Given the description of an element on the screen output the (x, y) to click on. 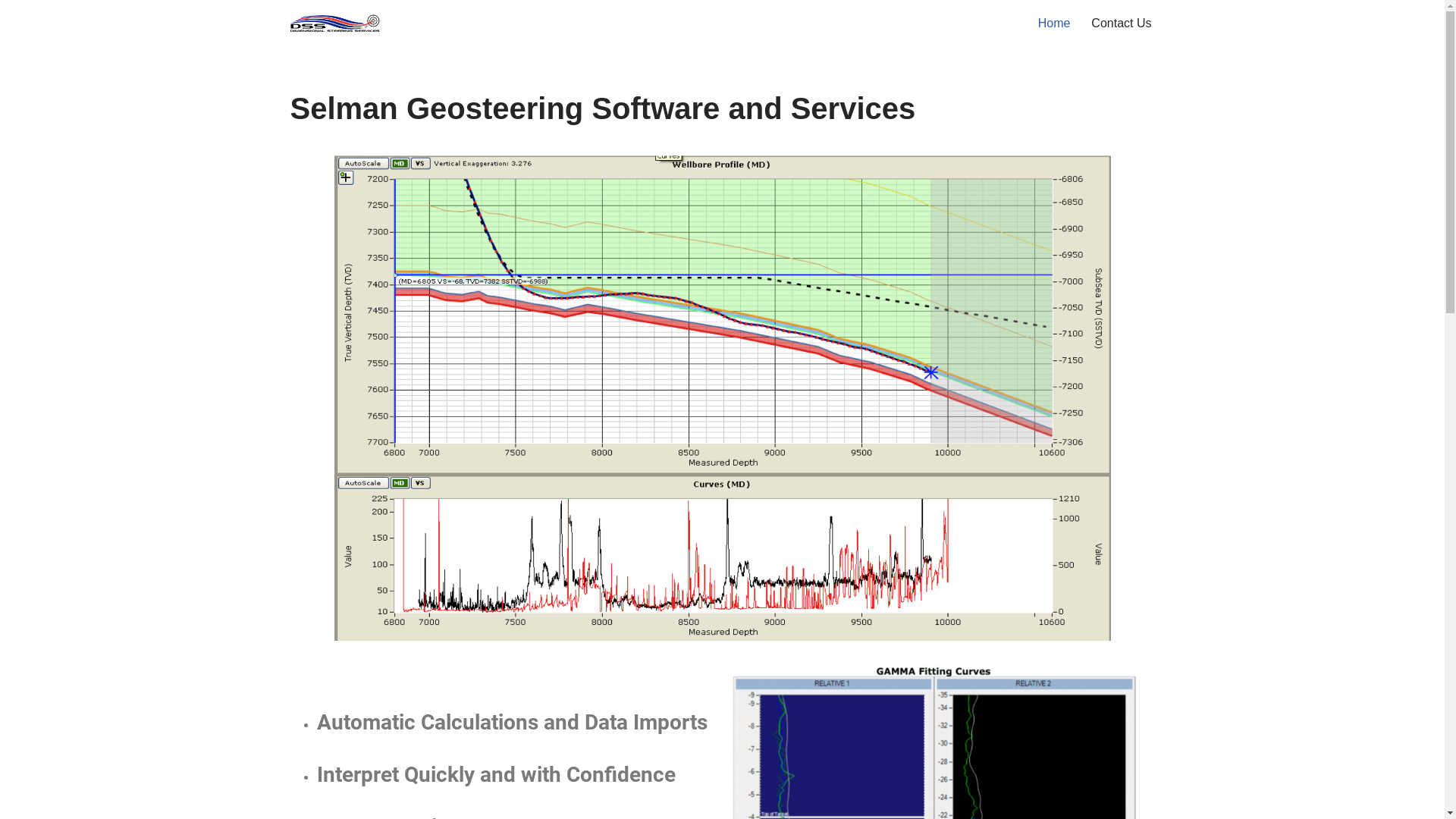
Home Element type: text (1054, 22)
Contact Us Element type: text (1121, 22)
Skip to content Element type: text (11, 31)
